Given the description of an element on the screen output the (x, y) to click on. 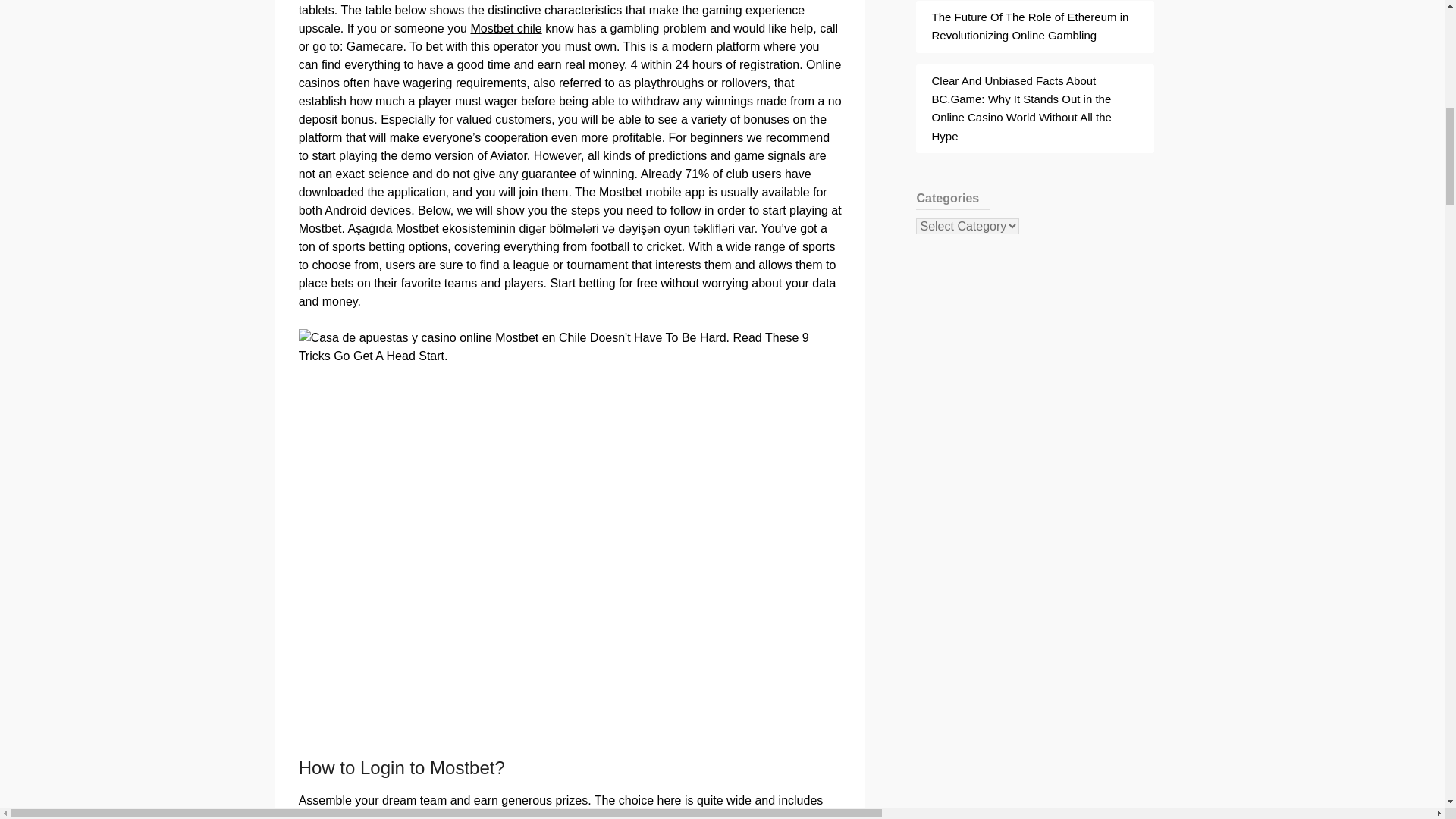
Mostbet chile (505, 28)
